Given the description of an element on the screen output the (x, y) to click on. 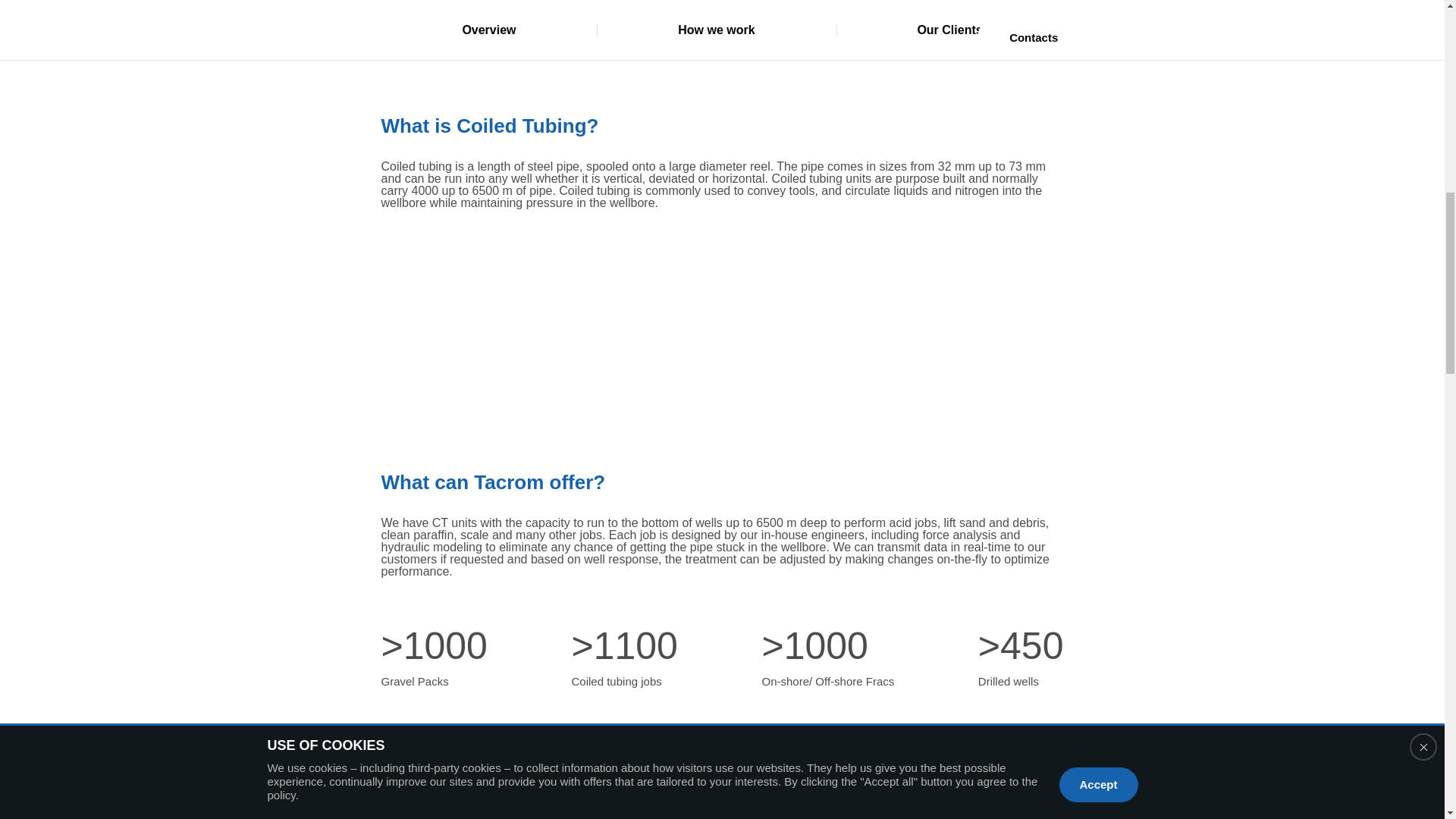
How we work (716, 29)
Our Clients (949, 29)
Overview (488, 29)
